Given the description of an element on the screen output the (x, y) to click on. 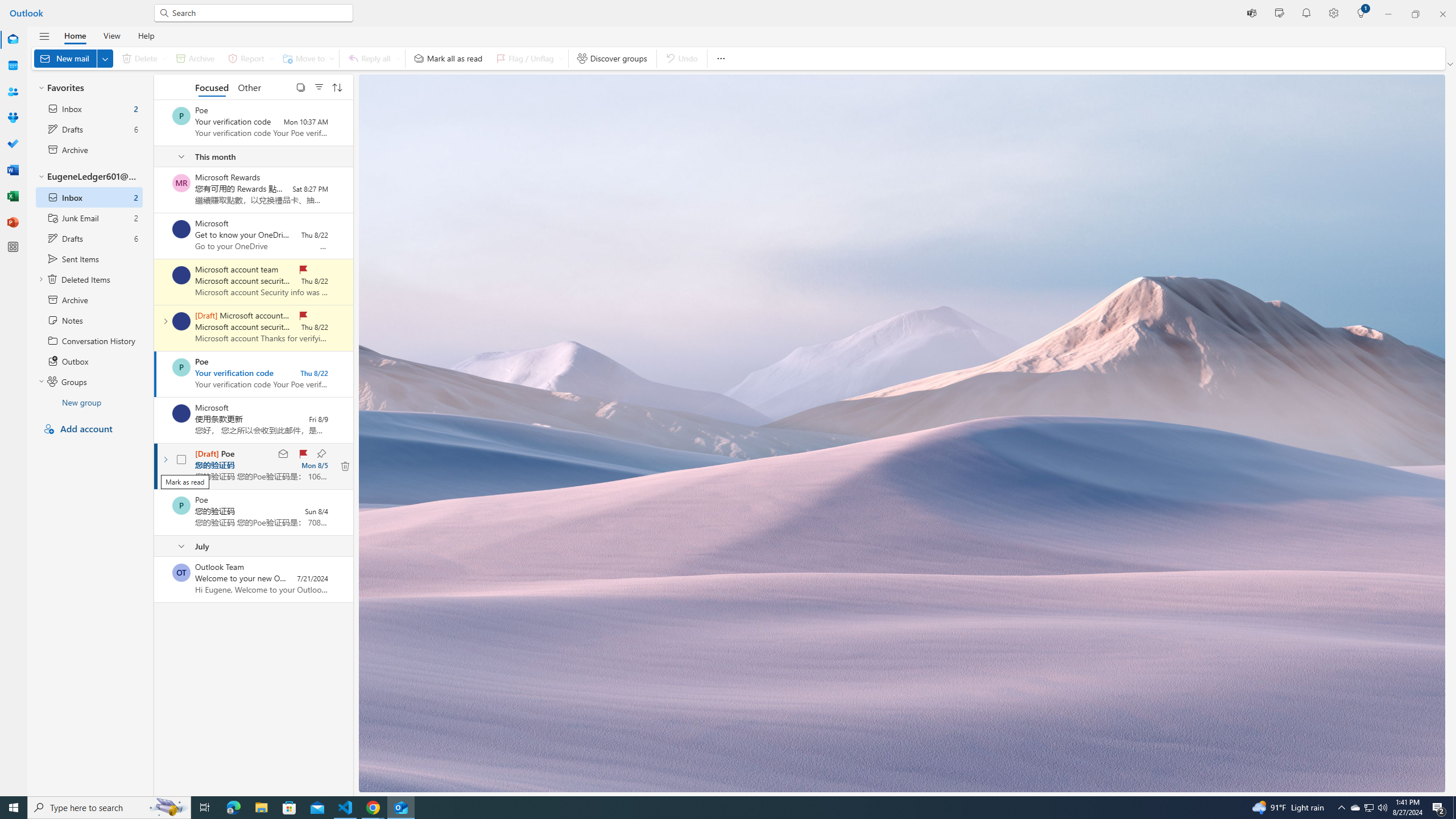
Expand to see more report options (271, 58)
Discover groups (611, 58)
Keep this message at the top of your folder (320, 453)
To Do (12, 143)
Expand to see delete options (164, 58)
Expand to see more New options (104, 58)
Outlook Team (180, 572)
